Given the description of an element on the screen output the (x, y) to click on. 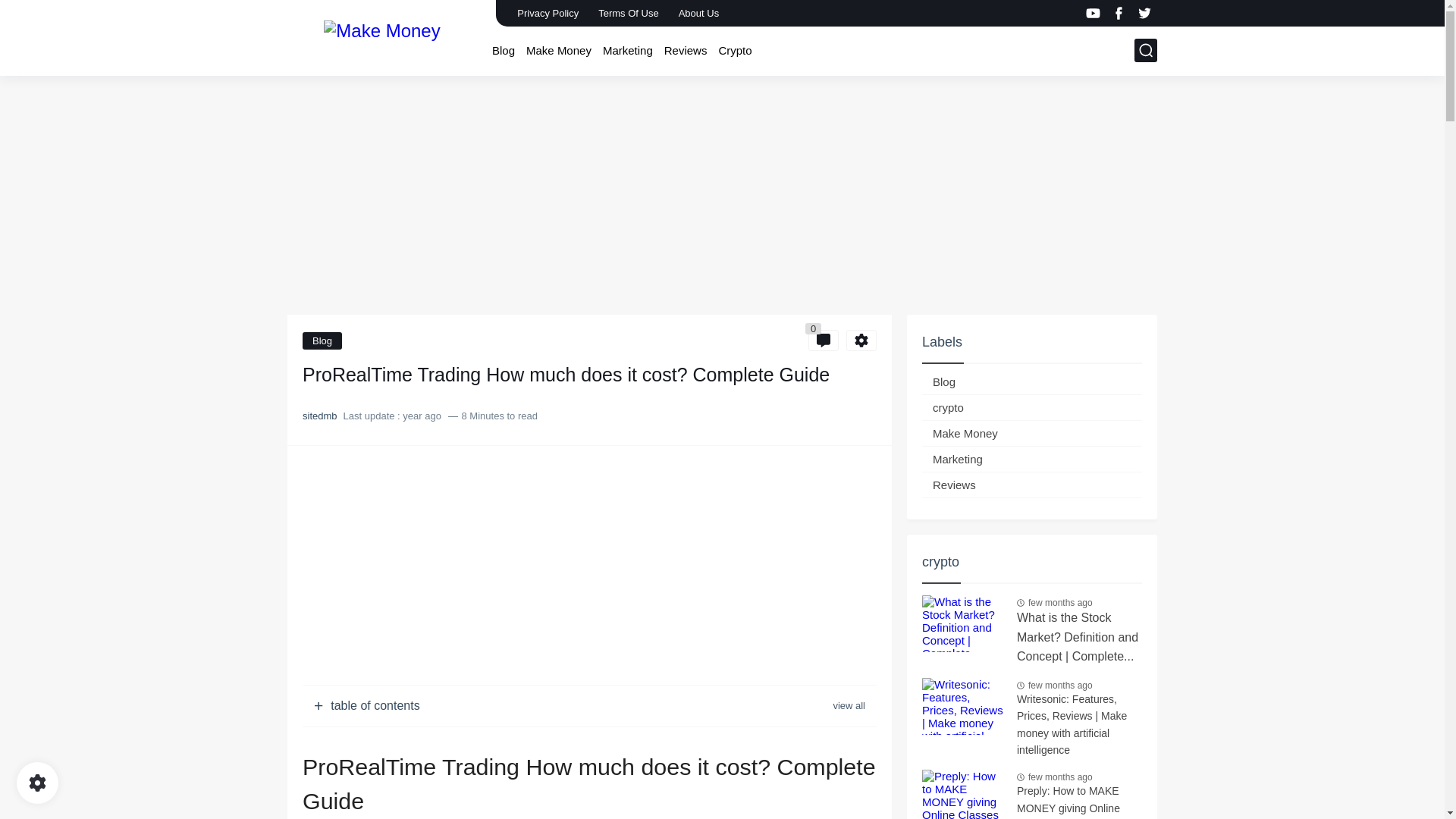
Advertisement (589, 567)
Blog (503, 50)
About Us (698, 12)
Make Money (558, 50)
Crypto (734, 50)
Marketing (627, 50)
Blog (322, 340)
Privacy Policy (548, 12)
Crypto (734, 50)
Make Money (381, 36)
